Given the description of an element on the screen output the (x, y) to click on. 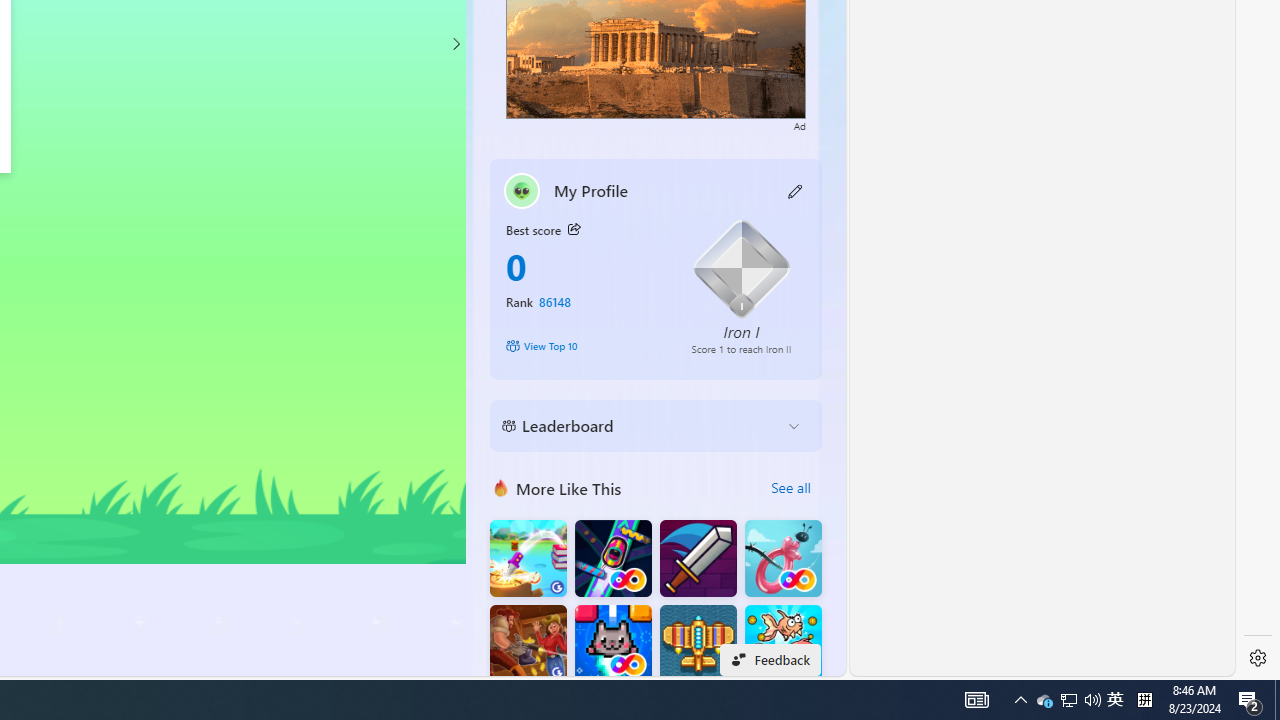
Atlantic Sky Hunter (698, 643)
Dungeon Master Knight (698, 558)
Kitten Force FRVR (612, 643)
Fish Merge FRVR (783, 643)
See all (790, 487)
More Like This (501, 487)
See all (790, 487)
View Top 10 (584, 345)
""'s avatar (522, 190)
Knife Flip (528, 558)
Class: control (455, 43)
Class: button (574, 229)
Bumper Car FRVR (612, 558)
